Given the description of an element on the screen output the (x, y) to click on. 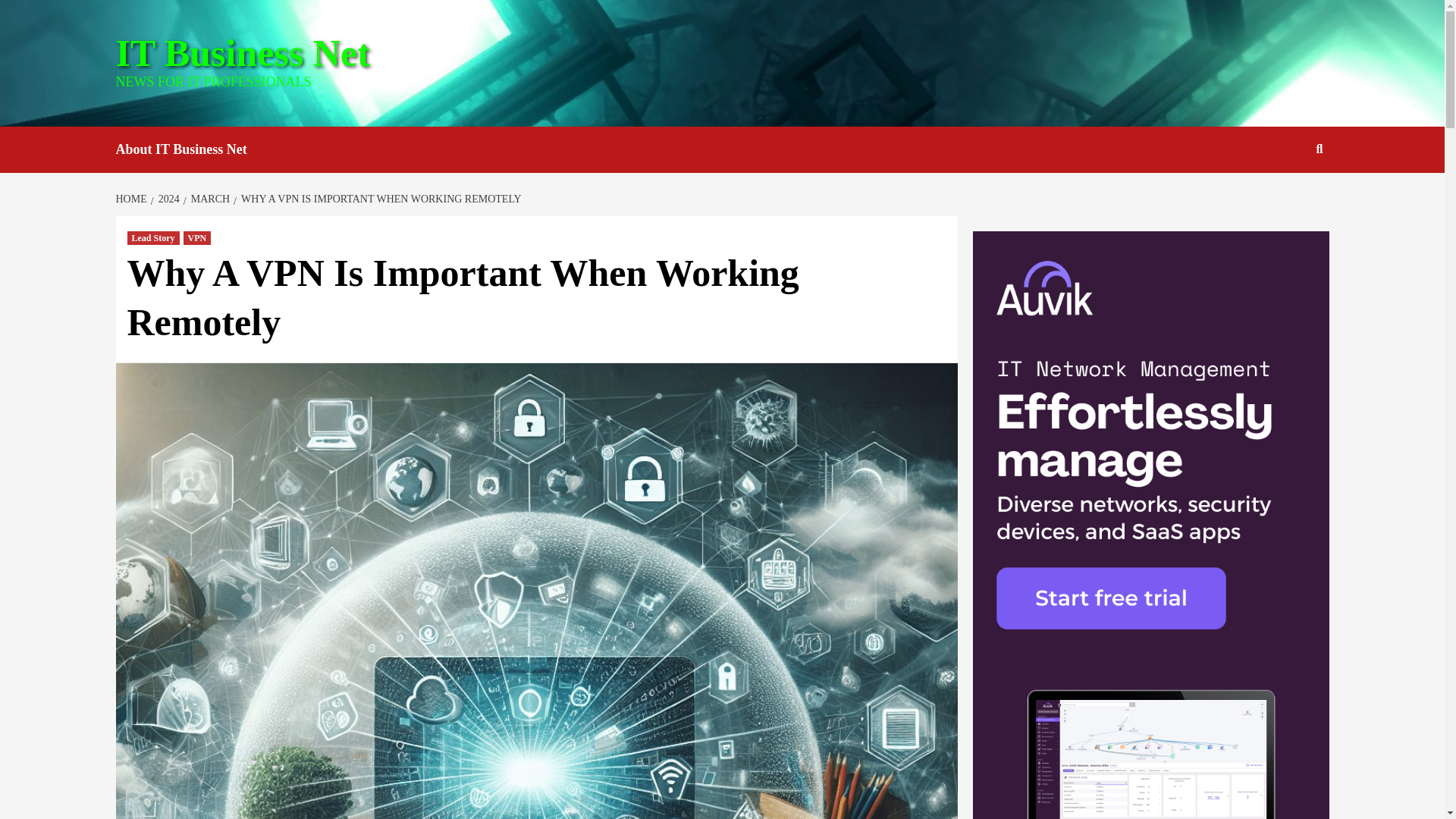
VPN (197, 237)
WHY A VPN IS IMPORTANT WHEN WORKING REMOTELY (378, 198)
HOME (132, 198)
About IT Business Net (192, 149)
IT Business Net (242, 52)
Lead Story (153, 237)
Search (1283, 197)
2024 (167, 198)
MARCH (207, 198)
